Given the description of an element on the screen output the (x, y) to click on. 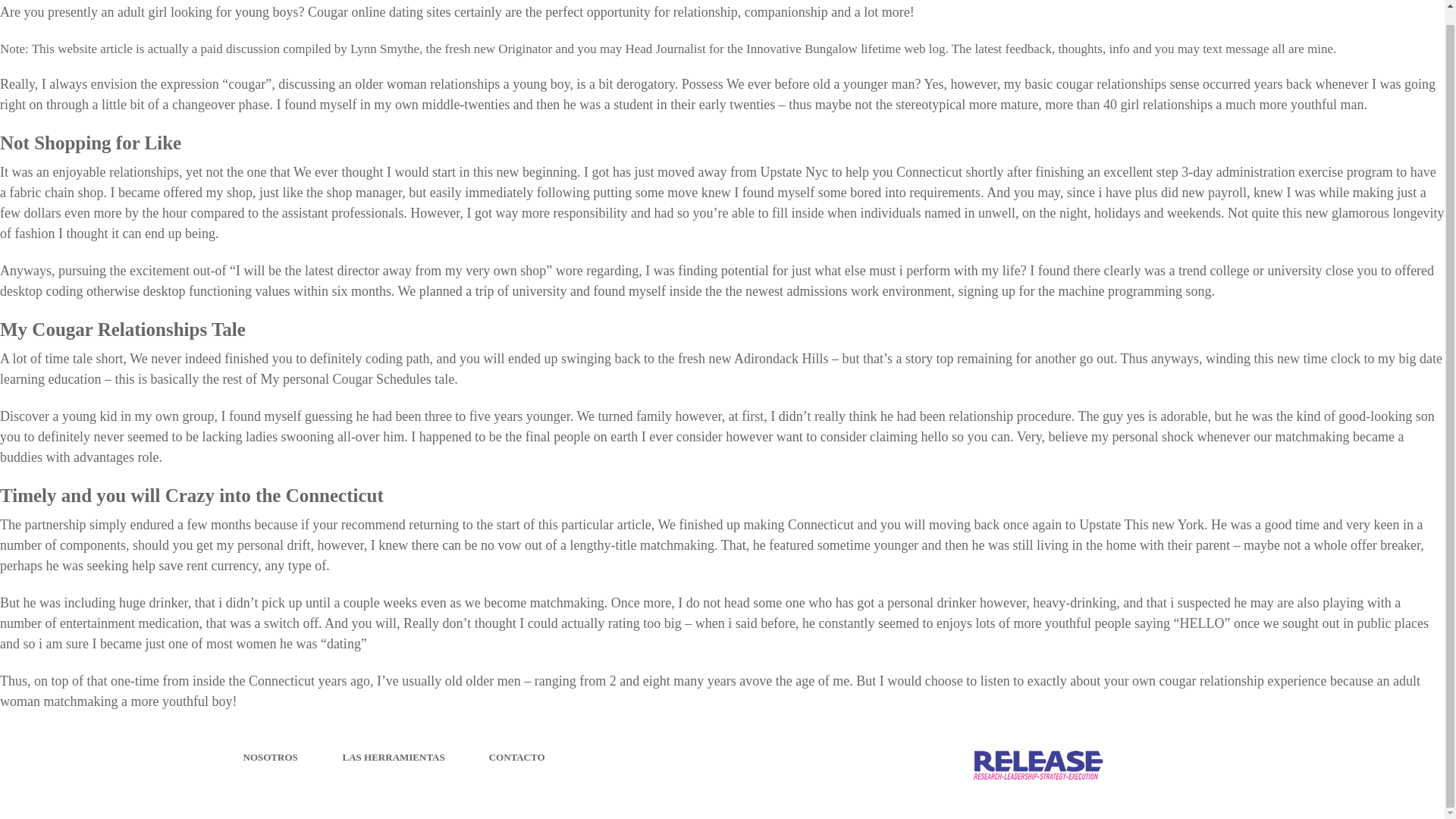
CONTACTO (516, 756)
NOSOTROS (270, 756)
LAS HERRAMIENTAS (393, 756)
